Given the description of an element on the screen output the (x, y) to click on. 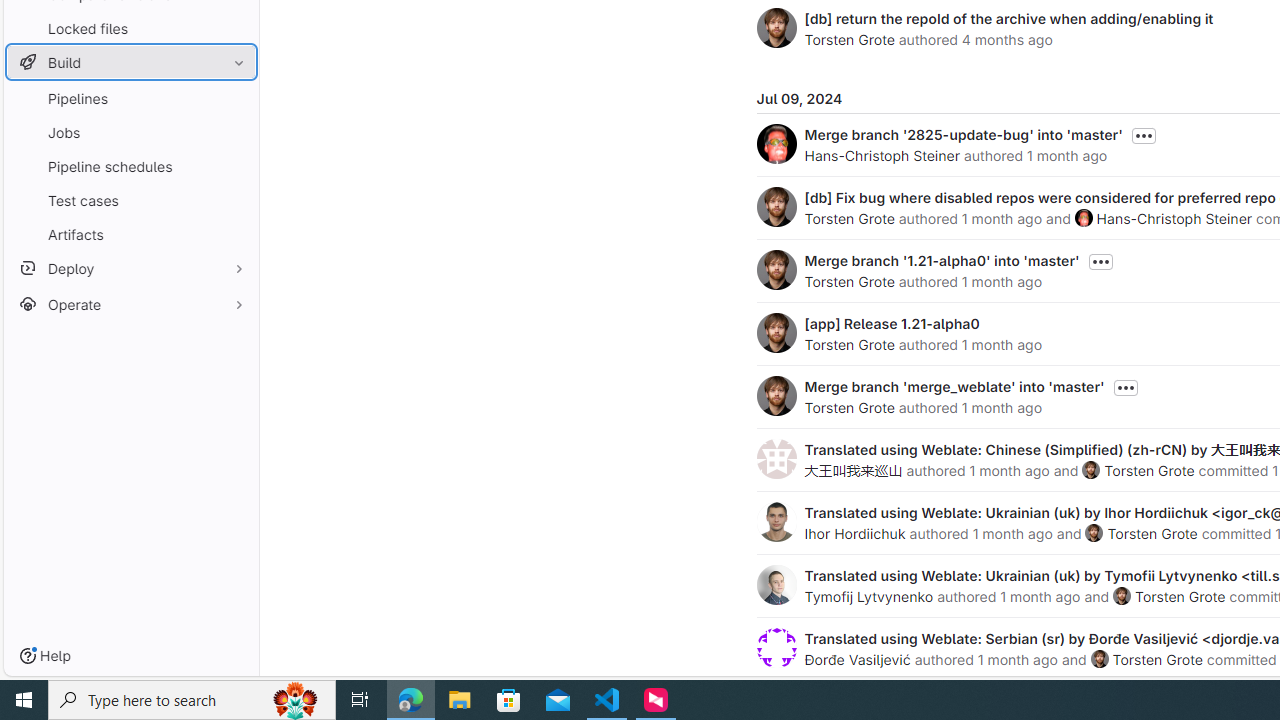
Tymofij Lytvynenko's avatar (776, 584)
Ihor Hordiichuk's avatar (776, 521)
Operate (130, 304)
Hans-Christoph Steiner (1174, 218)
Pin Pipeline schedules (234, 166)
Merge branch 'merge_weblate' into 'master' (953, 386)
Torsten Grote's avatar (1099, 659)
[app] Release 1.21-alpha0 (891, 323)
Locked files (130, 28)
Pin Test cases (234, 200)
Tymofij Lytvynenko's avatar (776, 584)
Pin Artifacts (234, 233)
Pipelines (130, 98)
